Given the description of an element on the screen output the (x, y) to click on. 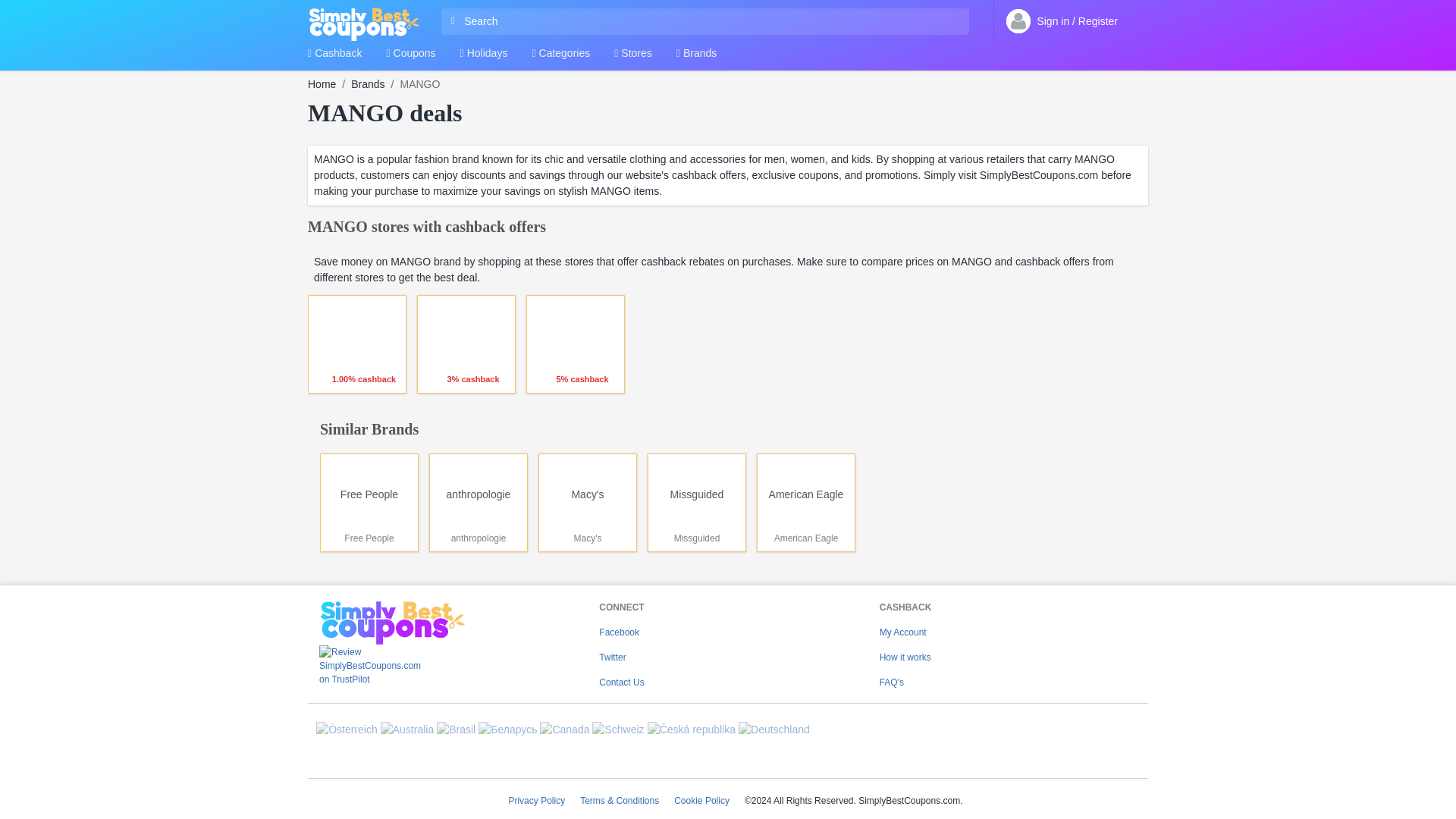
Categories (560, 57)
Holidays (484, 57)
Stores (633, 57)
Cashback (334, 57)
Coupons (410, 57)
Brands (696, 57)
